Given the description of an element on the screen output the (x, y) to click on. 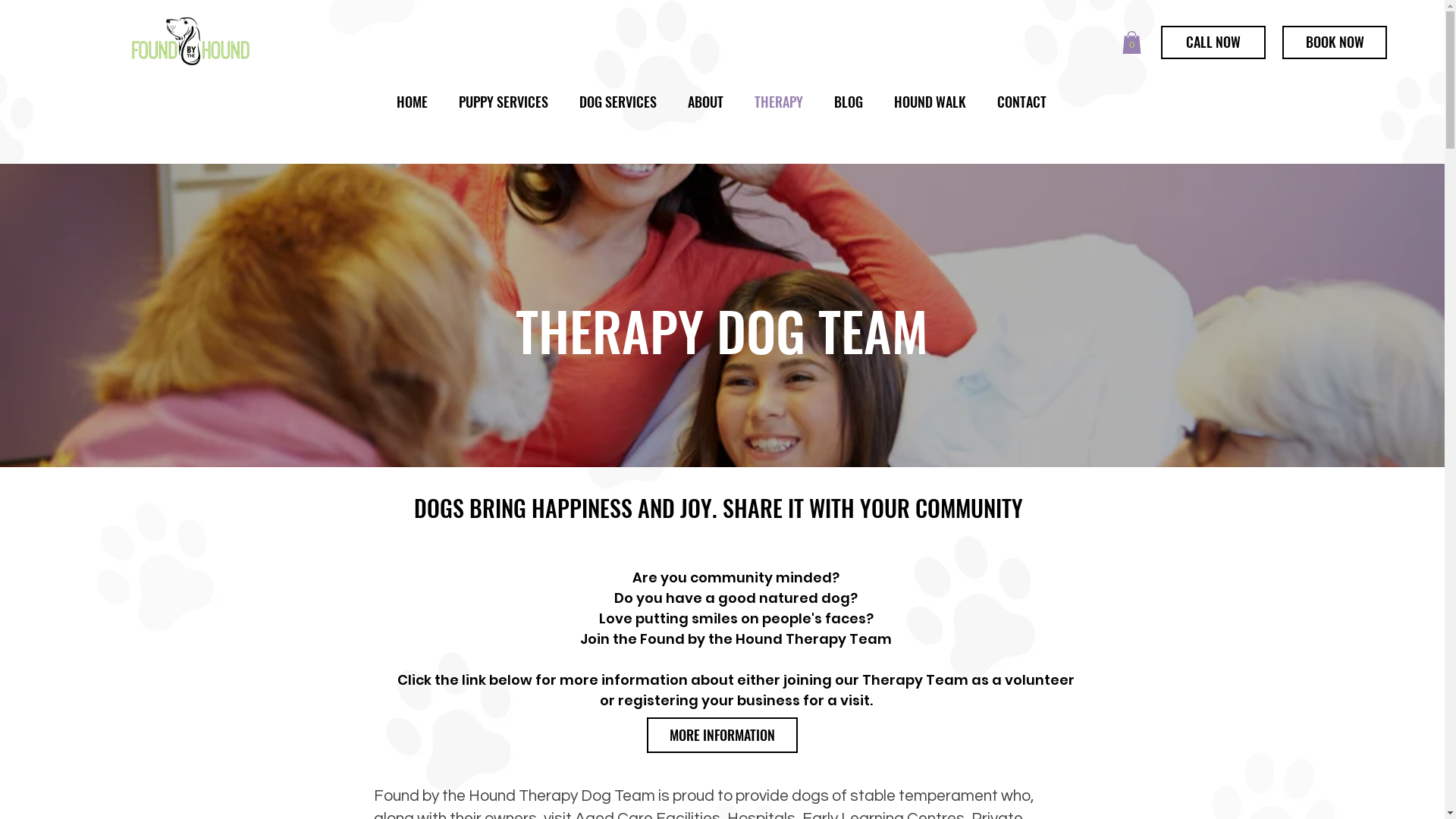
MORE INFORMATION Element type: text (721, 735)
TWIPLA (Visitor Analytics) Element type: hover (1442, 4)
CALL NOW Element type: text (1213, 42)
ABOUT Element type: text (704, 101)
THERAPY Element type: text (778, 101)
0 Element type: text (1131, 42)
HOUND WALK Element type: text (929, 101)
HOME Element type: text (411, 101)
DOG SERVICES Element type: text (618, 101)
PUPPY SERVICES Element type: text (502, 101)
CONTACT Element type: text (1021, 101)
BOOK NOW Element type: text (1334, 42)
BLOG Element type: text (848, 101)
